Given the description of an element on the screen output the (x, y) to click on. 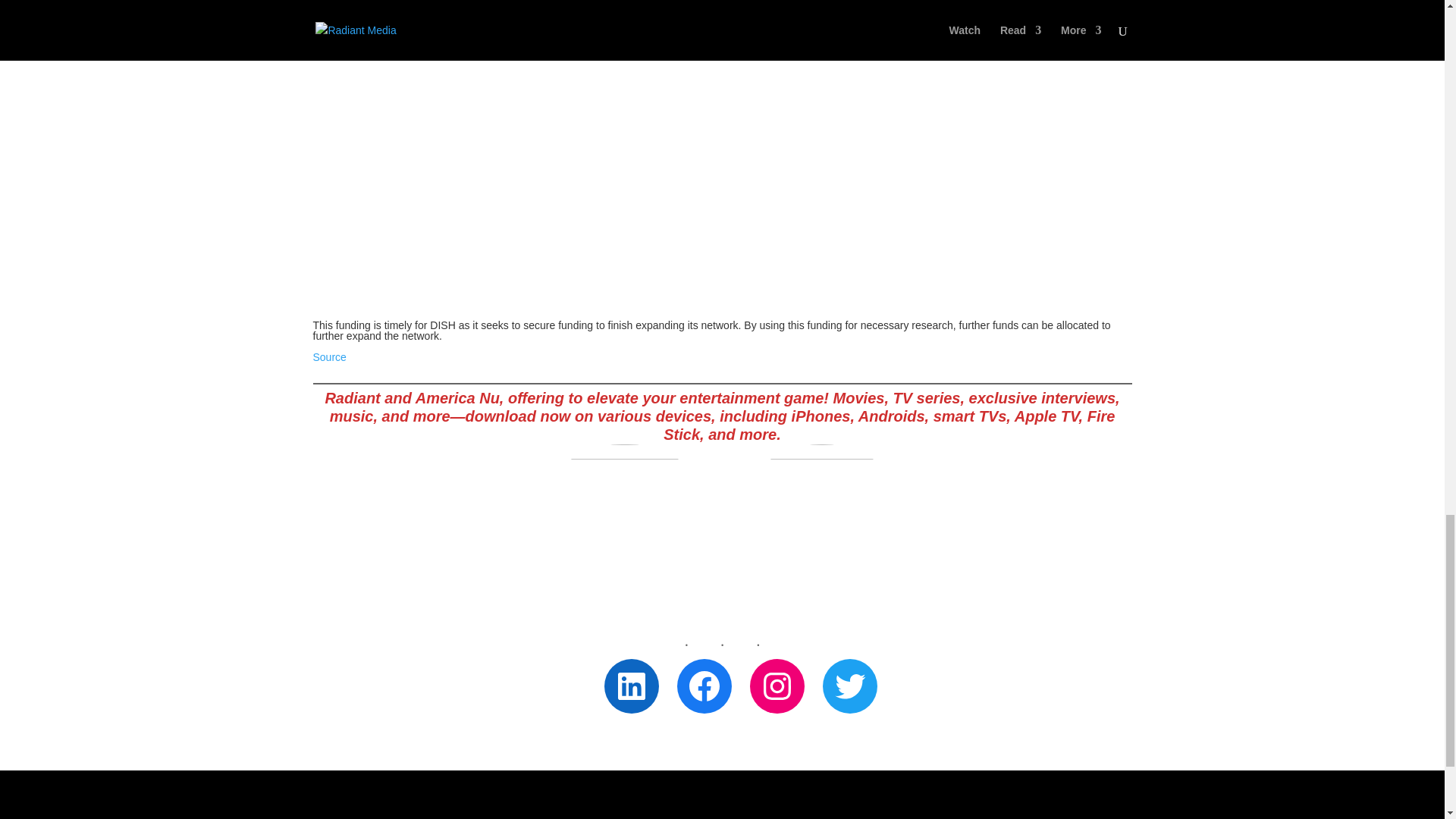
LinkedIn (631, 686)
Twitter (849, 686)
Facebook (703, 686)
Instagram (776, 686)
Source (329, 357)
